Given the description of an element on the screen output the (x, y) to click on. 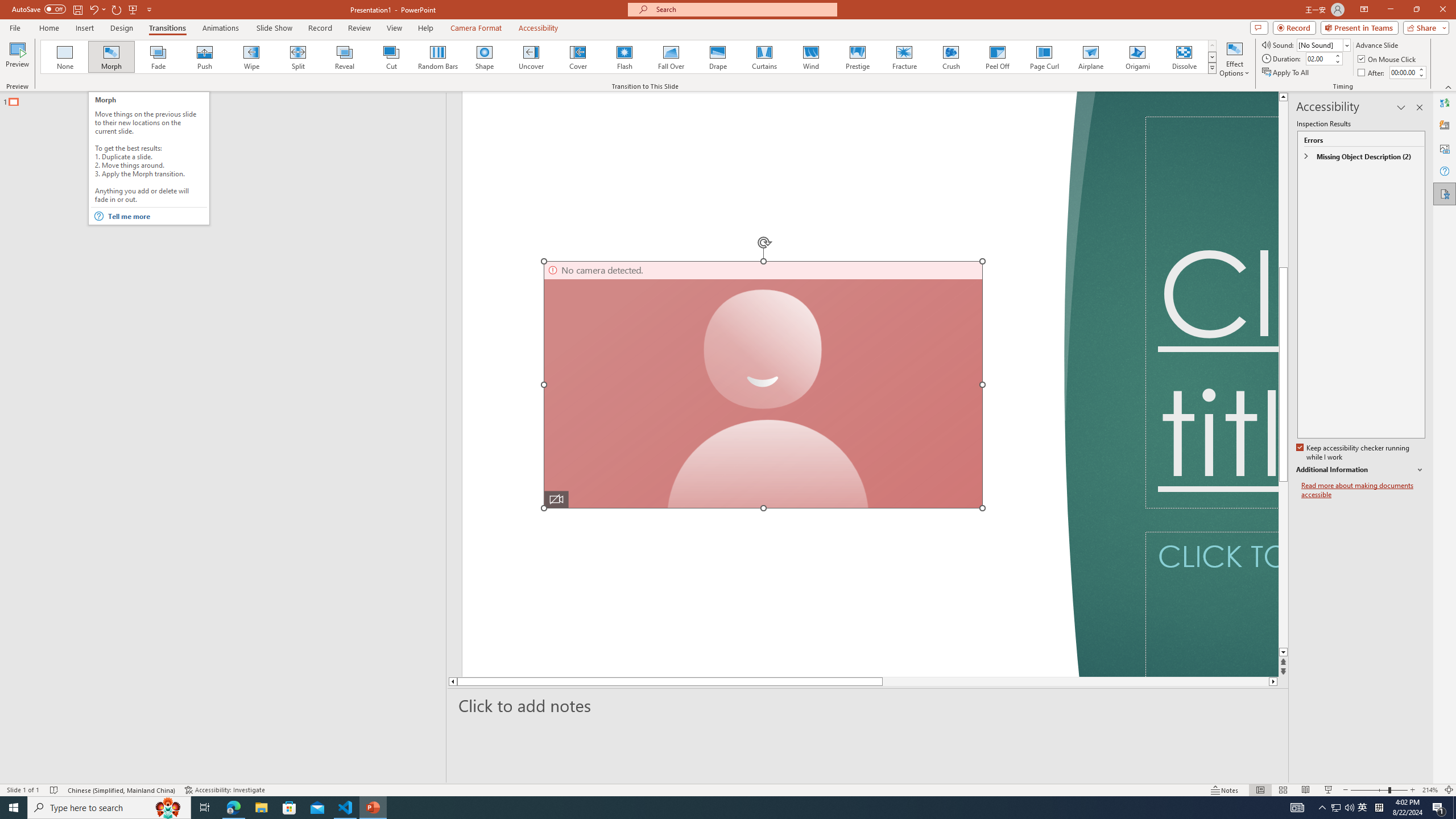
Decorative Locked (779, 383)
Transition Effects (1212, 67)
Reveal (344, 56)
Apply To All (1286, 72)
